Given the description of an element on the screen output the (x, y) to click on. 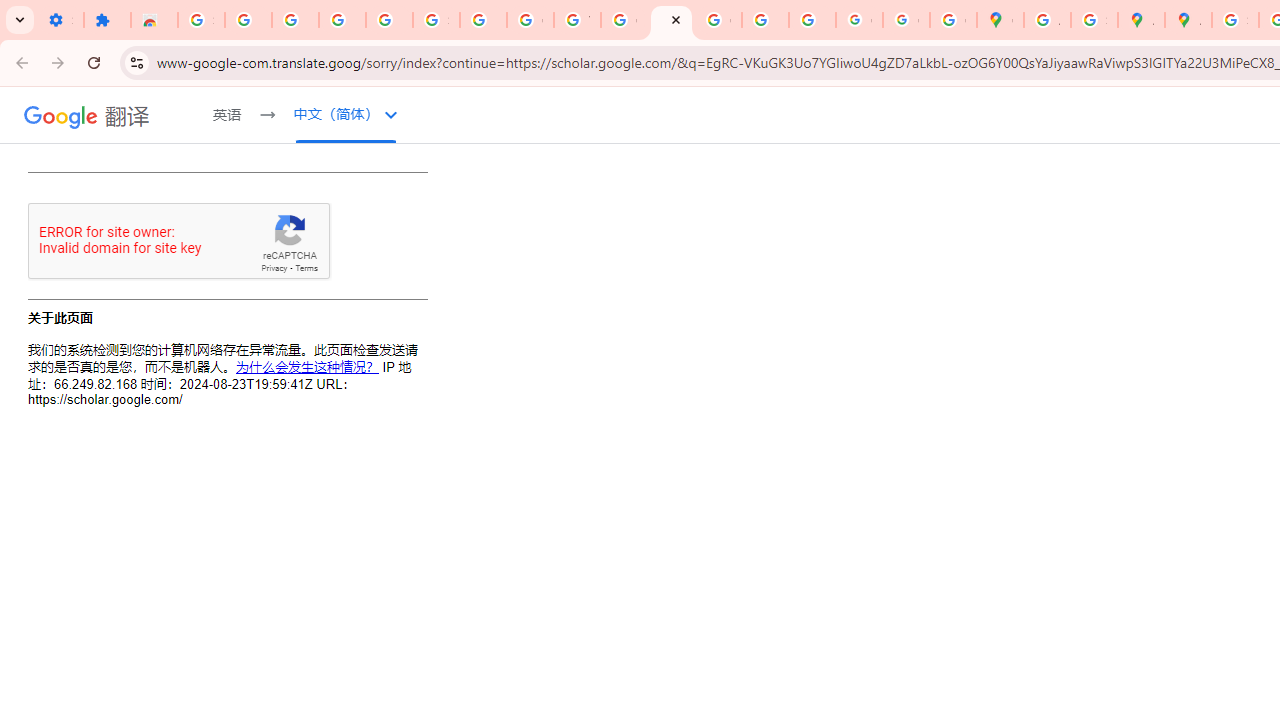
Settings - On startup (60, 20)
Google Account (530, 20)
https://scholar.google.com/ (671, 20)
Sign in - Google Accounts (436, 20)
Safety in Our Products - Google Safety Center (1094, 20)
